Given the description of an element on the screen output the (x, y) to click on. 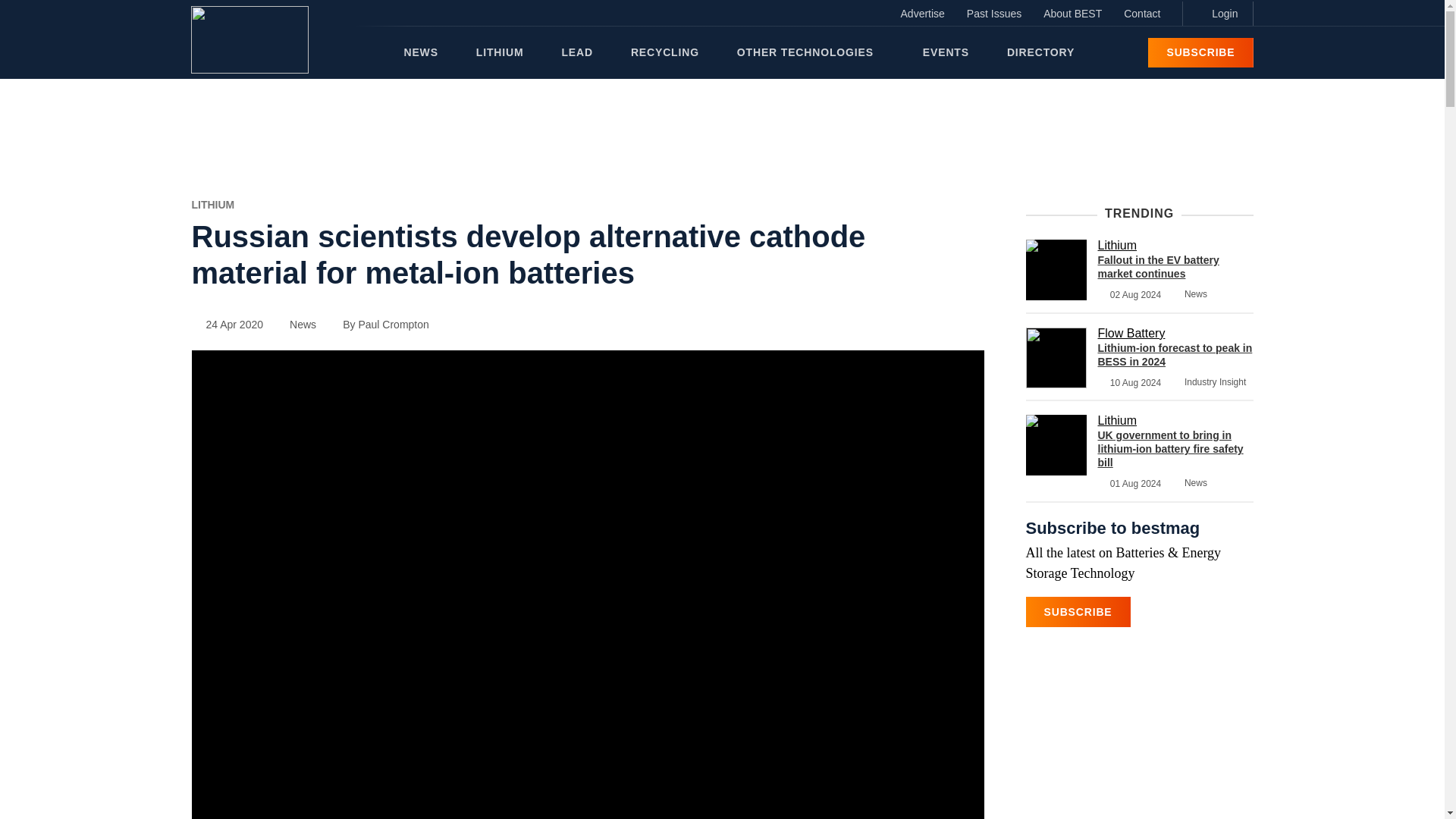
OTHER TECHNOLOGIES (810, 52)
SUBSCRIBE (1200, 52)
RECYCLING (664, 52)
About BEST (1072, 13)
LITHIUM (499, 52)
LITHIUM (212, 204)
EVENTS (945, 52)
Past Issues (994, 13)
Advertise (922, 13)
DIRECTORY (1039, 52)
